Given the description of an element on the screen output the (x, y) to click on. 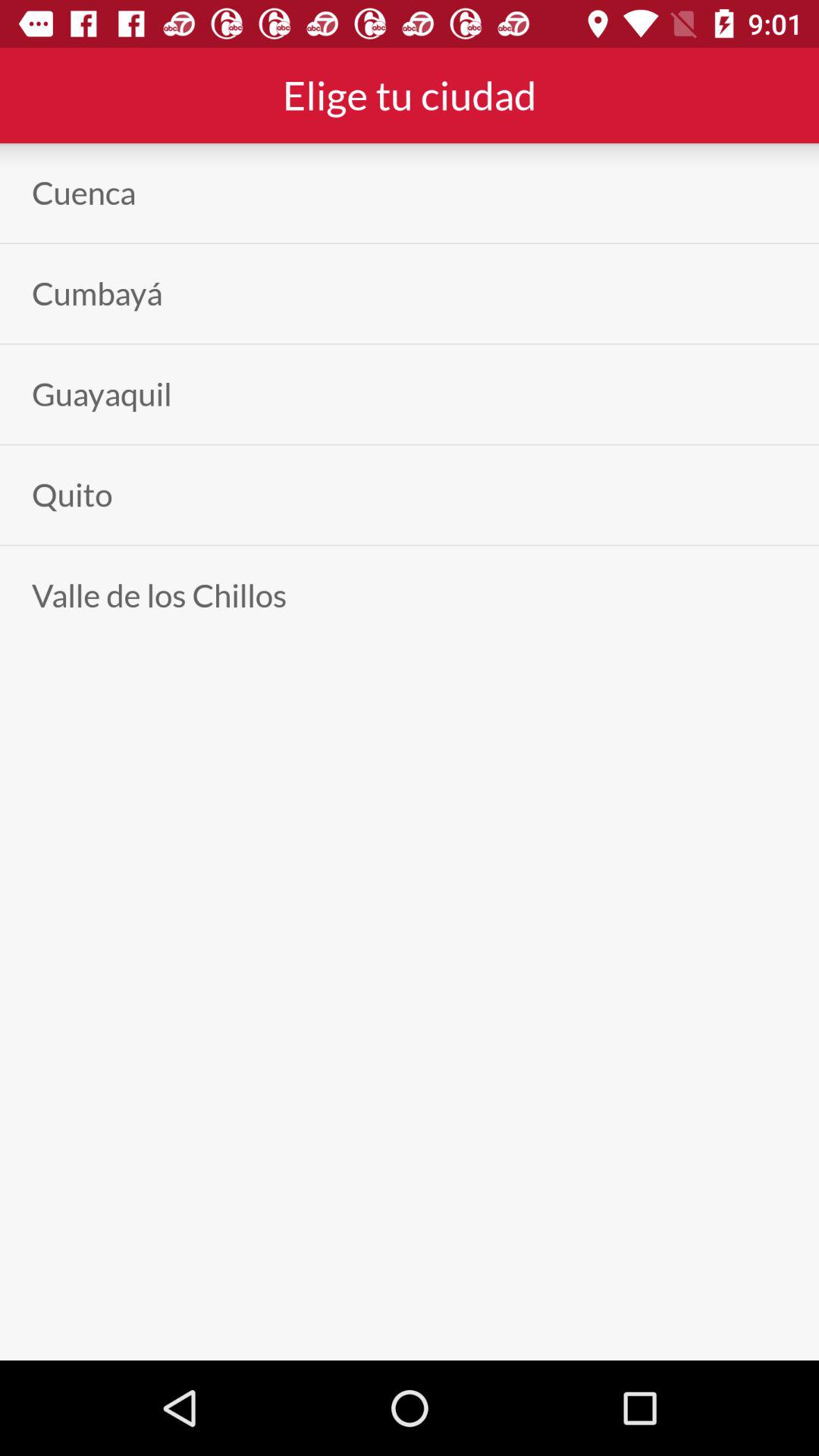
jump until the cuenca item (83, 193)
